Given the description of an element on the screen output the (x, y) to click on. 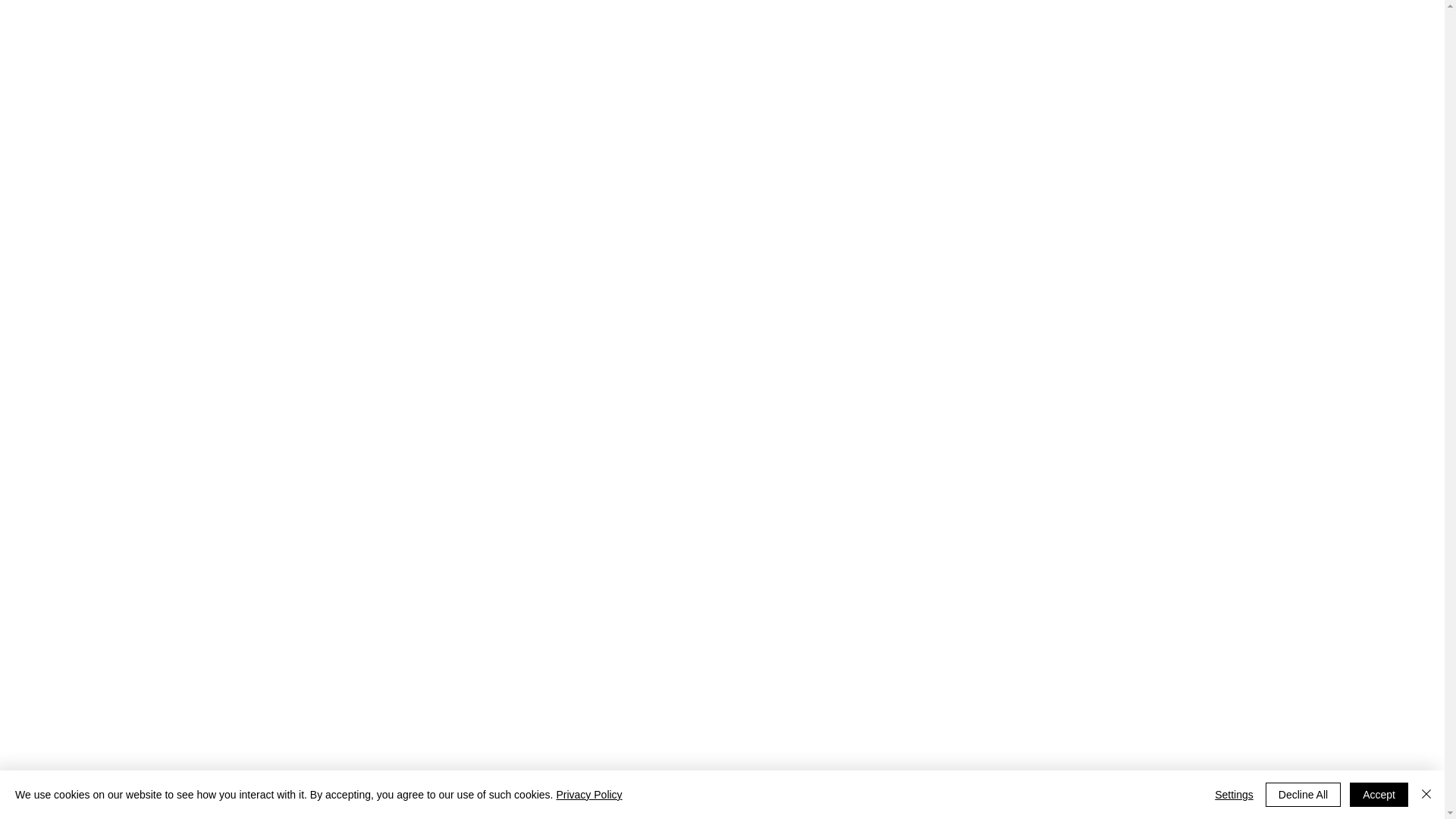
Accept Element type: text (1378, 794)
Decline All Element type: text (1302, 794)
Privacy Policy Element type: text (588, 794)
